Given the description of an element on the screen output the (x, y) to click on. 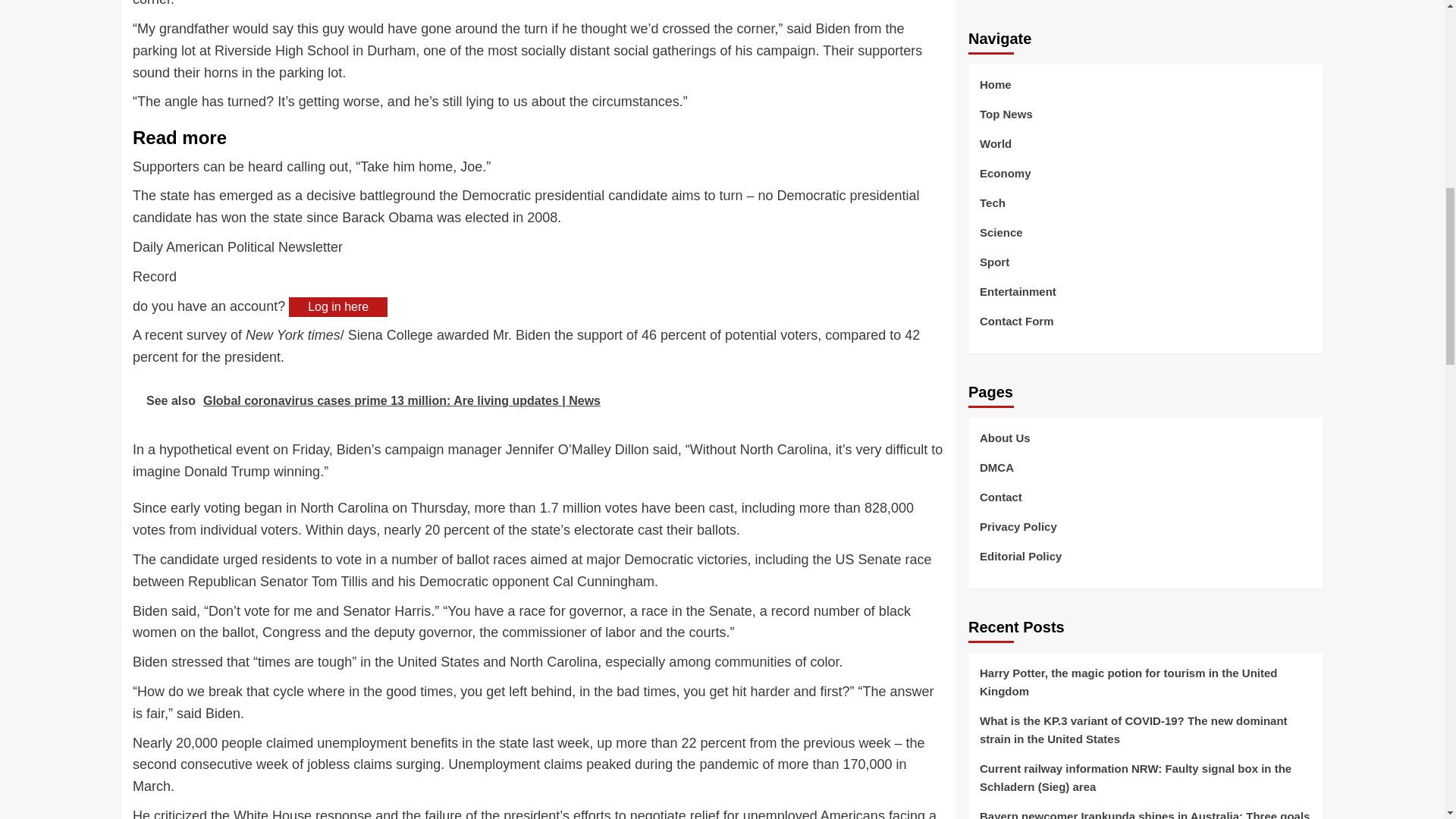
Log in here (337, 306)
